Given the description of an element on the screen output the (x, y) to click on. 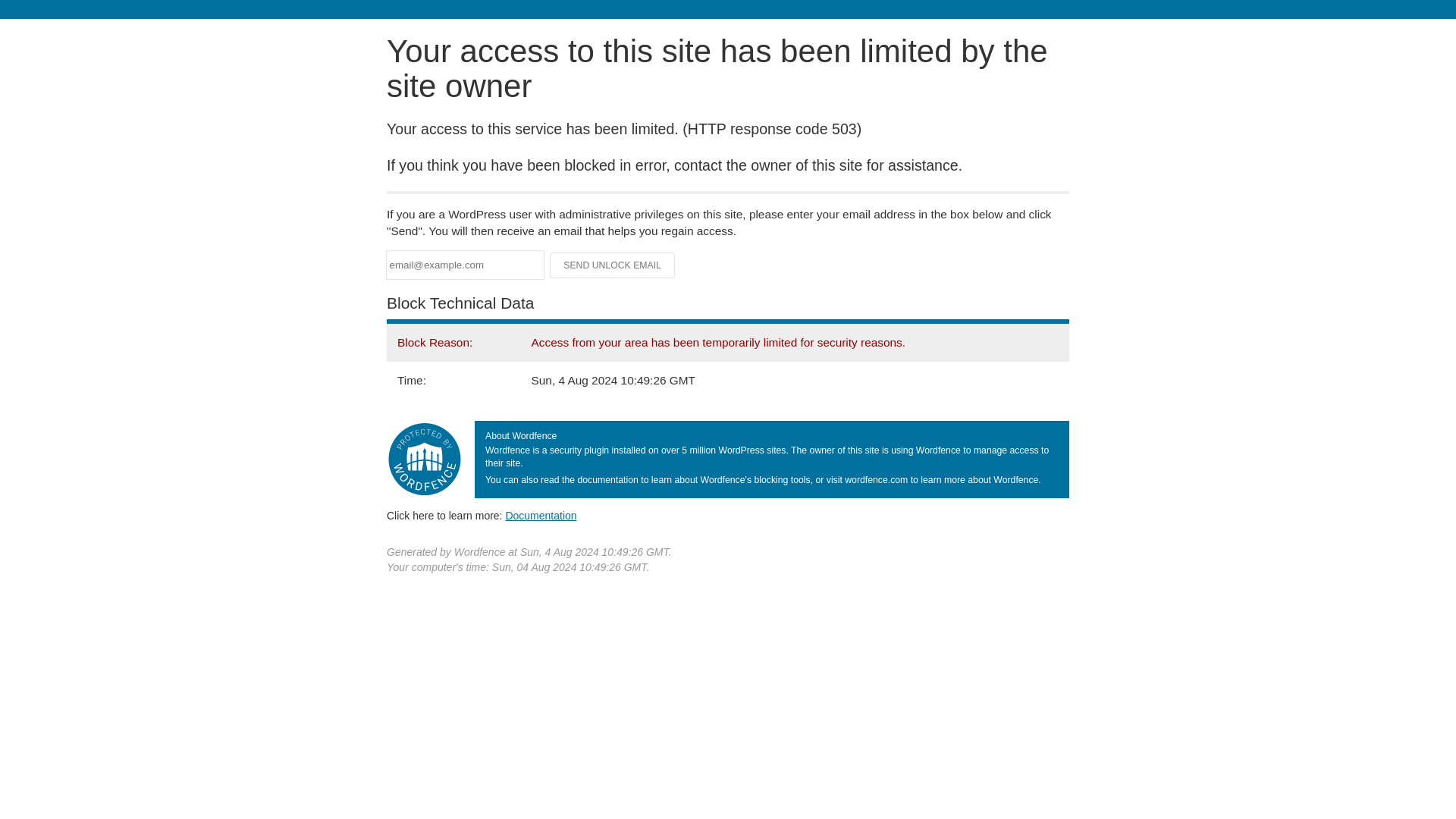
Documentation (540, 515)
Send Unlock Email (612, 265)
Send Unlock Email (612, 265)
